Given the description of an element on the screen output the (x, y) to click on. 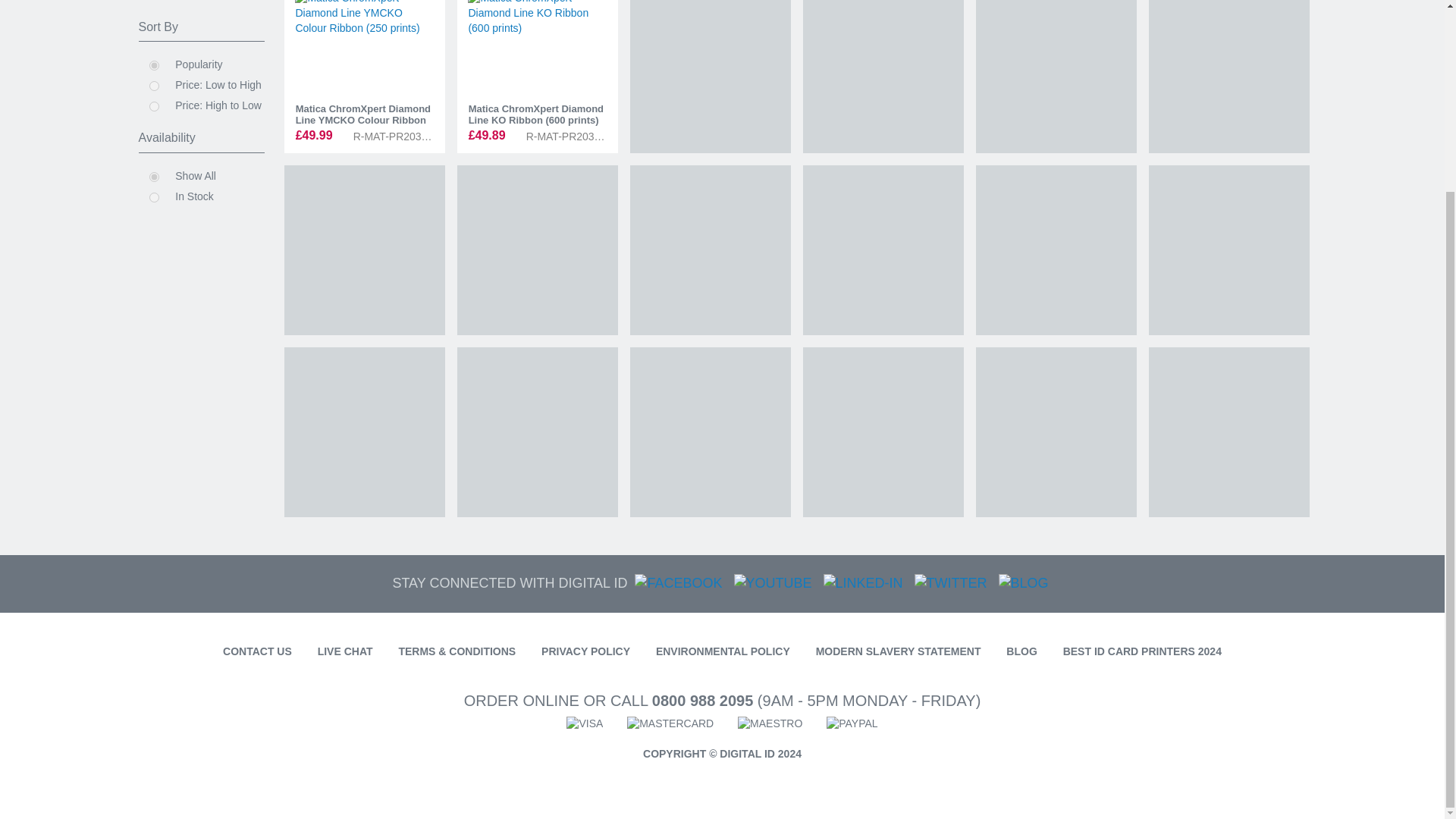
0 (153, 65)
1 (153, 85)
-667 (153, 197)
2 (153, 106)
-666 (153, 176)
